Given the description of an element on the screen output the (x, y) to click on. 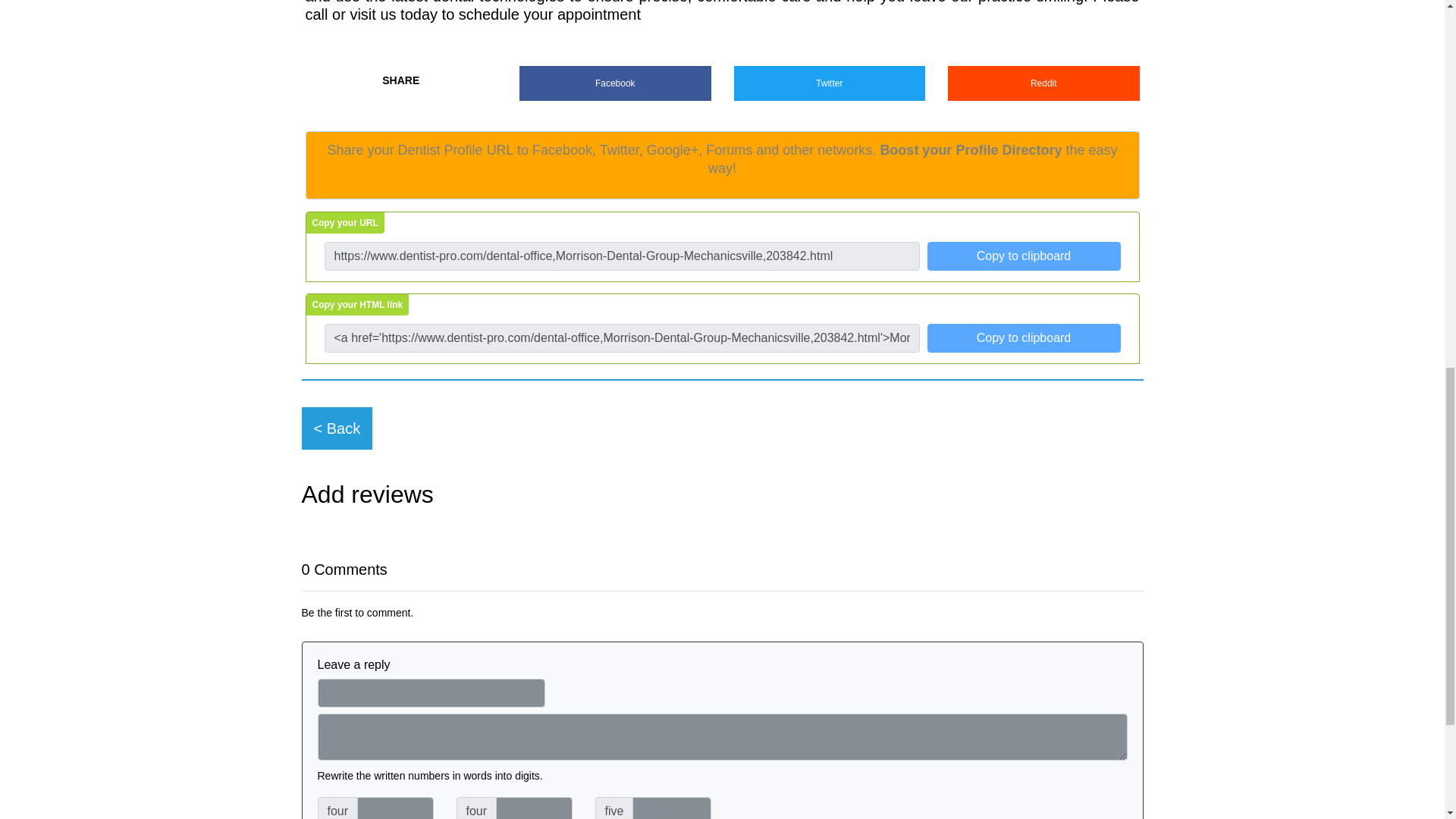
Copy to clipboard (1022, 337)
Copy to clipboard (1022, 256)
Facebook (615, 83)
Twitter (829, 83)
Reddit (1043, 83)
